Given the description of an element on the screen output the (x, y) to click on. 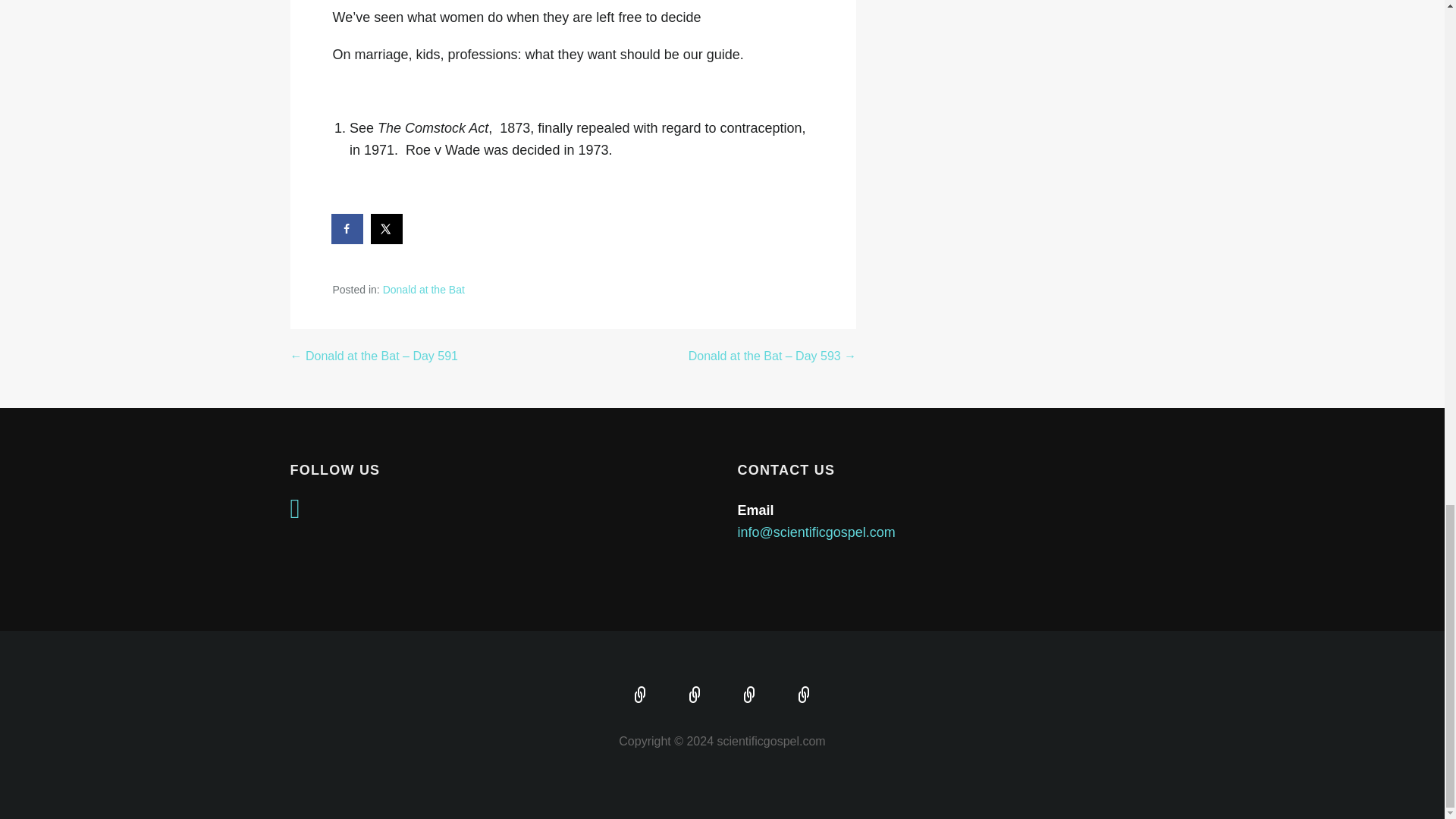
Blog (803, 695)
Music (748, 695)
Home (639, 695)
Share on Facebook (346, 228)
Donald at the Bat (423, 289)
About (694, 695)
Share on X (387, 228)
